Given the description of an element on the screen output the (x, y) to click on. 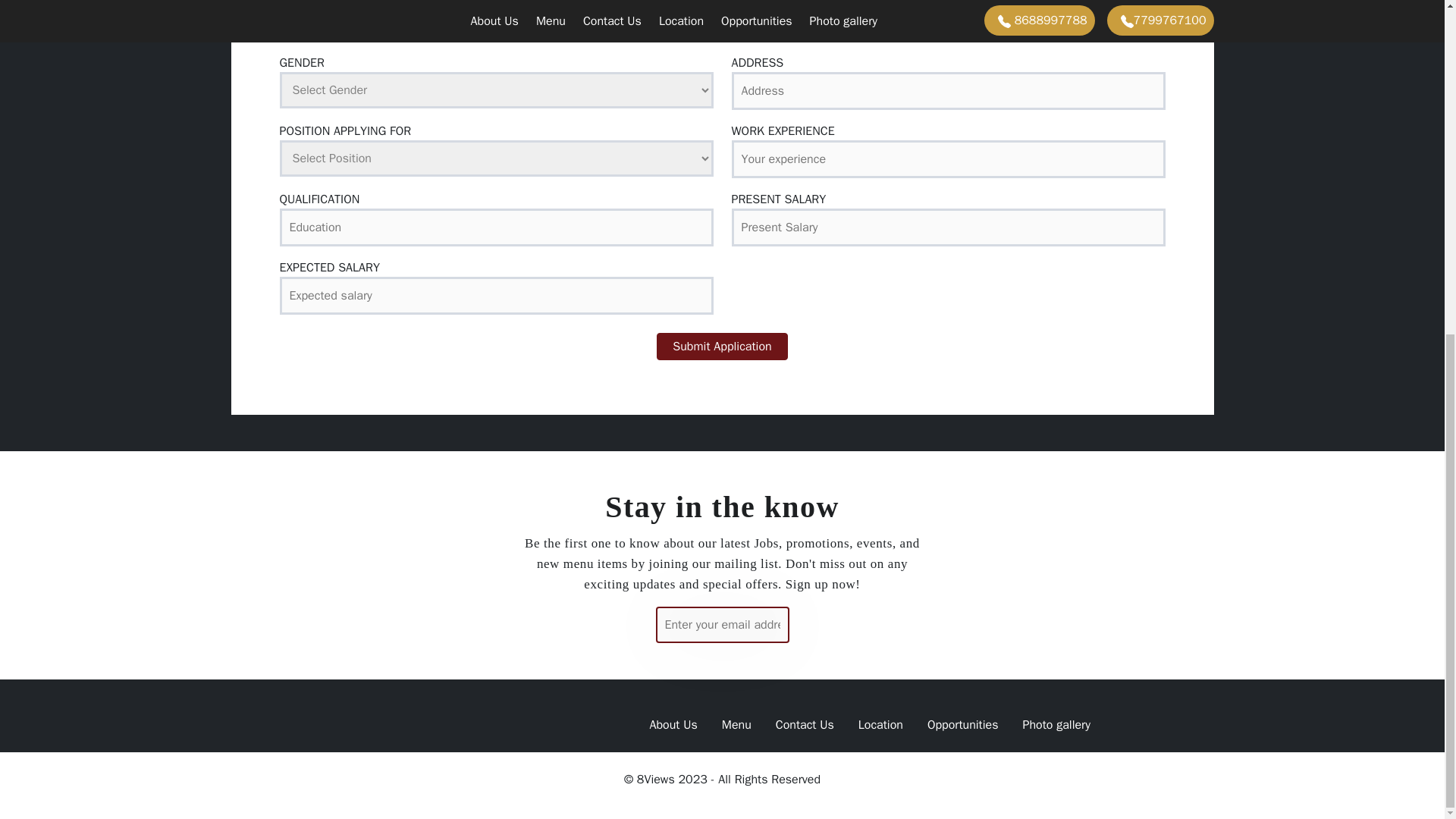
Menu (736, 725)
Opportunities (962, 725)
Contact Us (803, 725)
Photo gallery (1056, 725)
About Us (673, 725)
Location (880, 725)
Submit Application (721, 345)
